Given the description of an element on the screen output the (x, y) to click on. 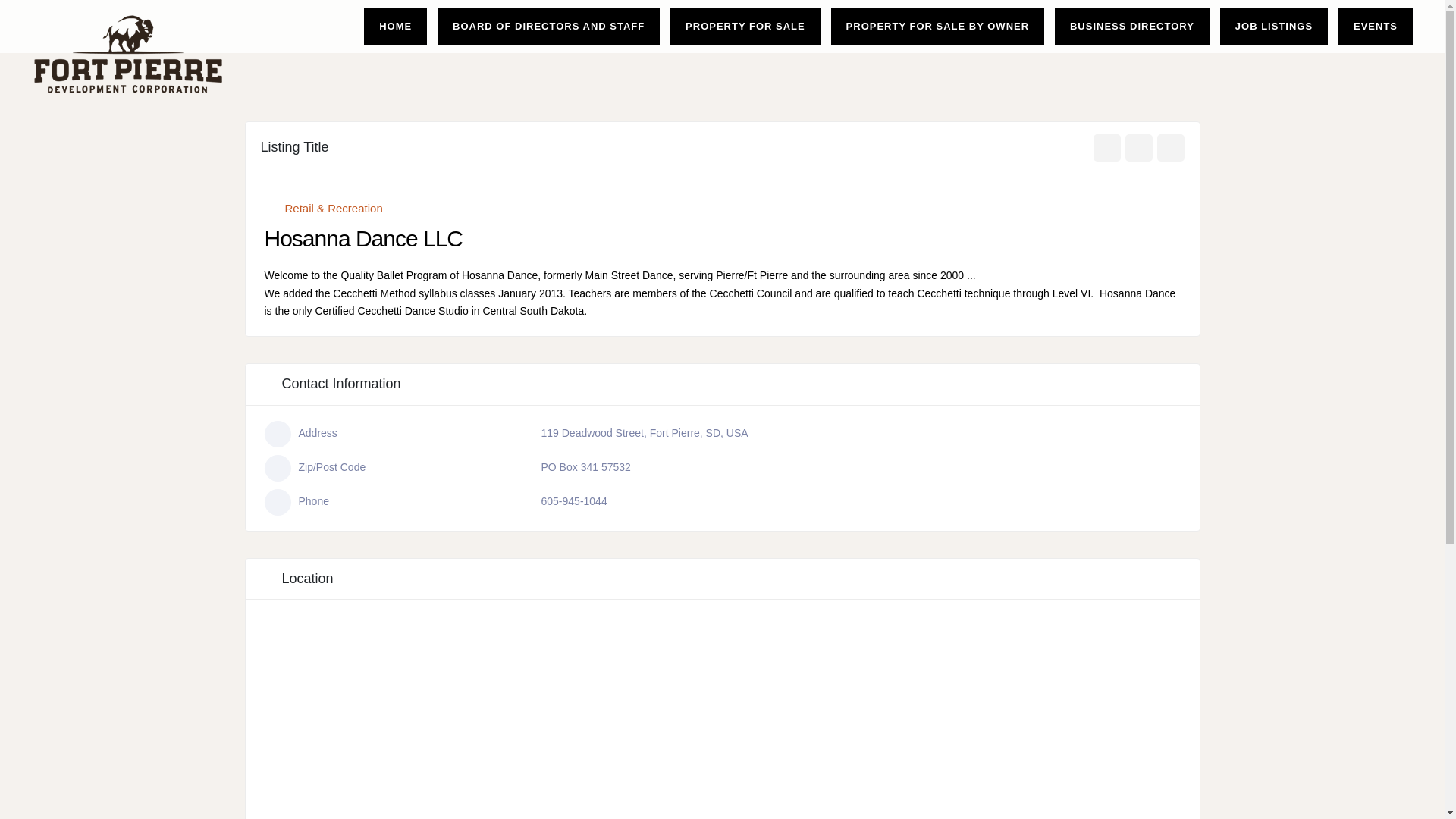
BOARD OF DIRECTORS AND STAFF (548, 26)
HOME (395, 26)
PROPERTY FOR SALE BY OWNER (937, 26)
JOB LISTINGS (1273, 26)
PROPERTY FOR SALE (745, 26)
BUSINESS DIRECTORY (1132, 26)
605-945-1044 (574, 500)
EVENTS (1375, 26)
